Given the description of an element on the screen output the (x, y) to click on. 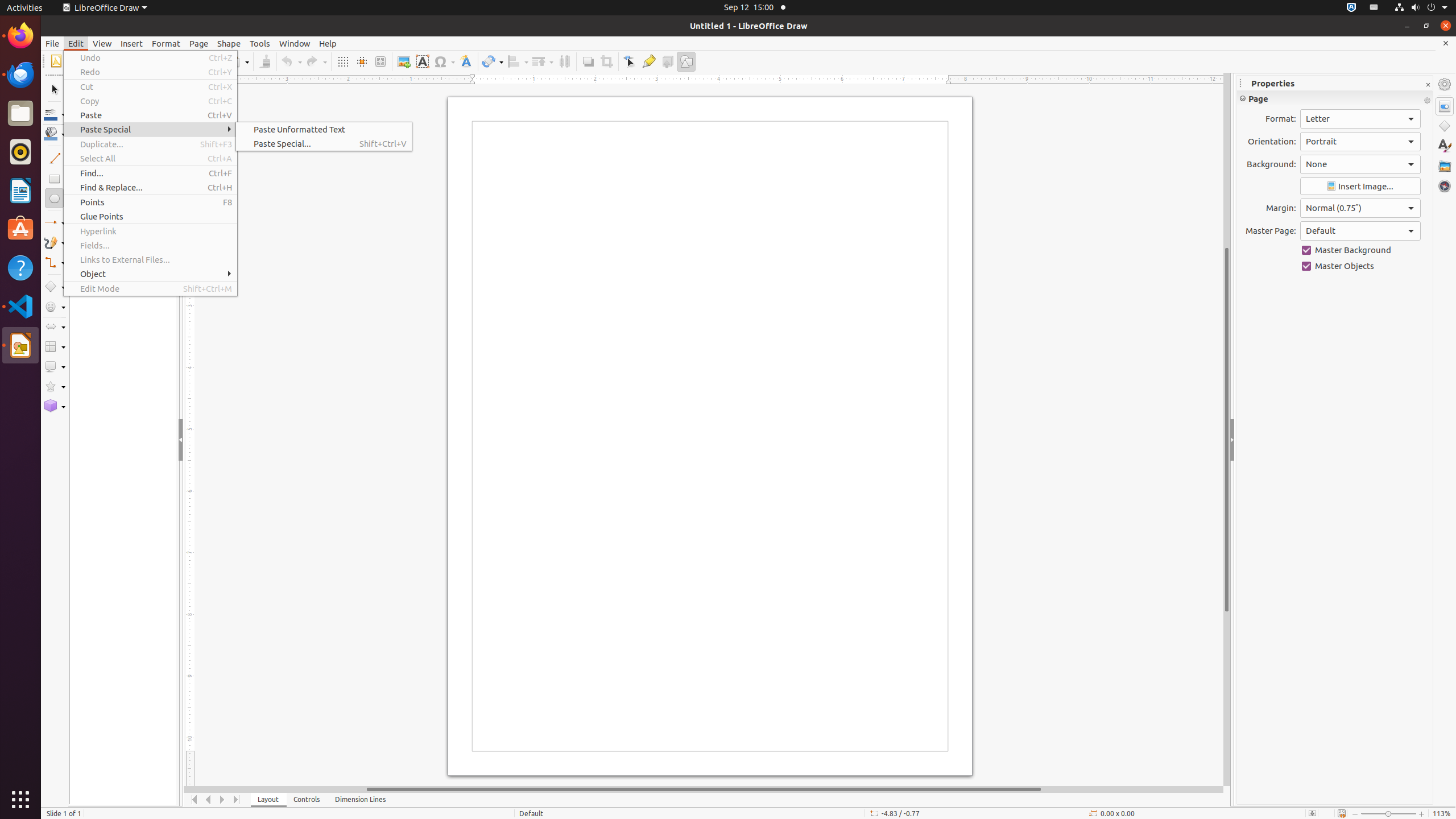
Shapes Element type: radio-button (1444, 126)
Distribution Element type: push-button (564, 61)
Move To Home Element type: push-button (194, 799)
Background: Element type: combo-box (1360, 164)
Cut Element type: menu-item (150, 86)
